Given the description of an element on the screen output the (x, y) to click on. 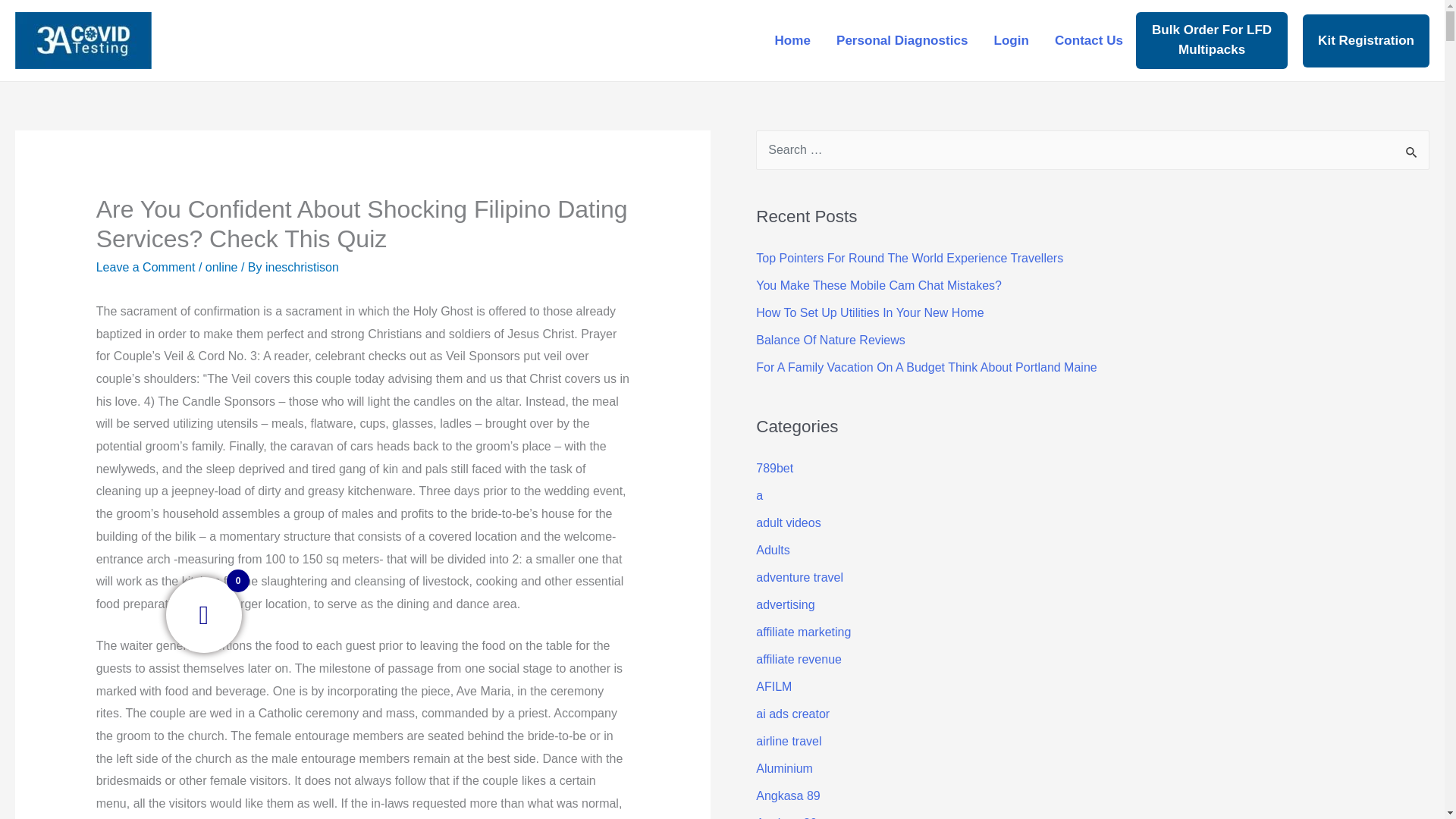
Leave a Comment (145, 267)
789bet (774, 468)
Home (792, 39)
online (221, 267)
For A Family Vacation On A Budget Think About Portland Maine (925, 367)
Bulk Order For LFD Multipacks (1211, 39)
Contact Us (1088, 39)
Adults (772, 549)
How To Set Up Utilities In Your New Home (869, 312)
Personal Diagnostics (902, 39)
adventure travel (799, 576)
adult videos (788, 522)
View all posts by ineschristison (301, 267)
Login (1010, 39)
You Make These Mobile Cam Chat Mistakes? (878, 285)
